Given the description of an element on the screen output the (x, y) to click on. 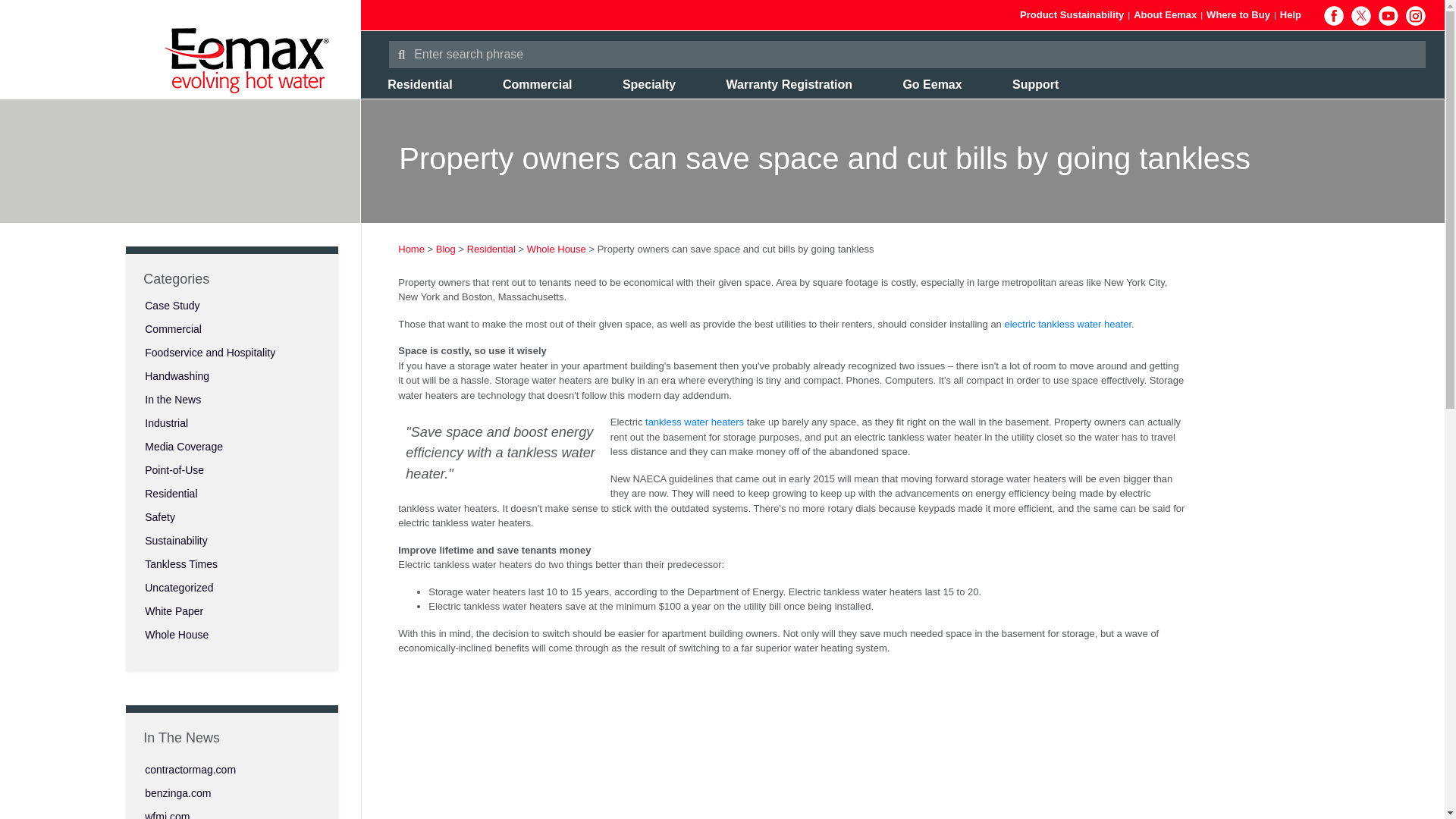
Where to Buy (1238, 14)
Commercial (537, 83)
Residential (419, 83)
YouTube (1387, 15)
Facebook (1333, 15)
Help (1290, 14)
Go to the Whole House category archives. (556, 248)
X (1361, 15)
Instagram (1415, 15)
Go to the Residential category archives. (491, 248)
Product Sustainability (1072, 14)
Go to Eemax. (411, 248)
About Eemax (1165, 14)
Go to Blog. (445, 248)
